Given the description of an element on the screen output the (x, y) to click on. 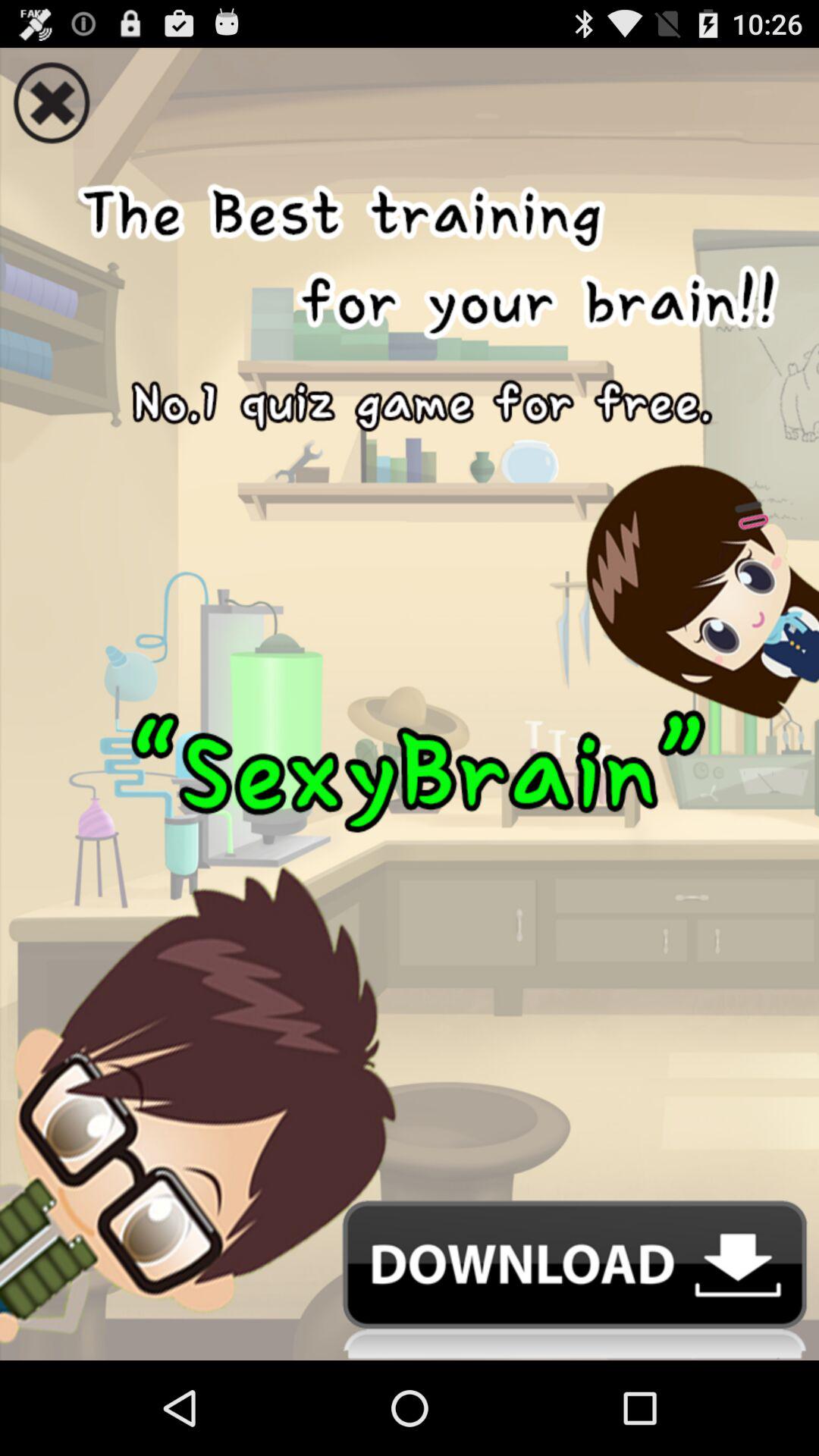
cancel x (409, 97)
